Given the description of an element on the screen output the (x, y) to click on. 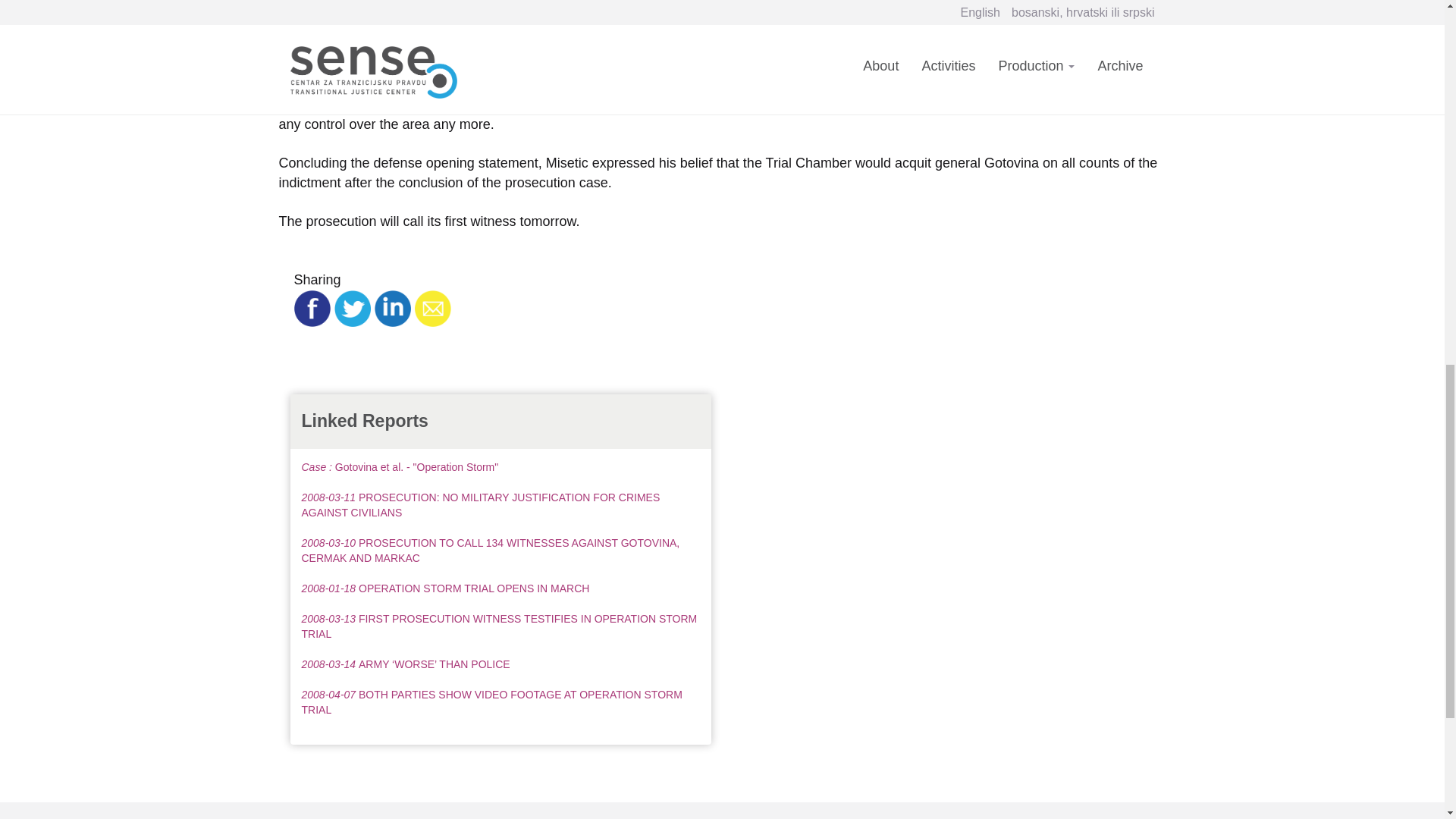
2008-01-18 OPERATION STORM TRIAL OPENS IN MARCH (445, 588)
Case : Gotovina et al. - "Operation Storm" (400, 467)
